Given the description of an element on the screen output the (x, y) to click on. 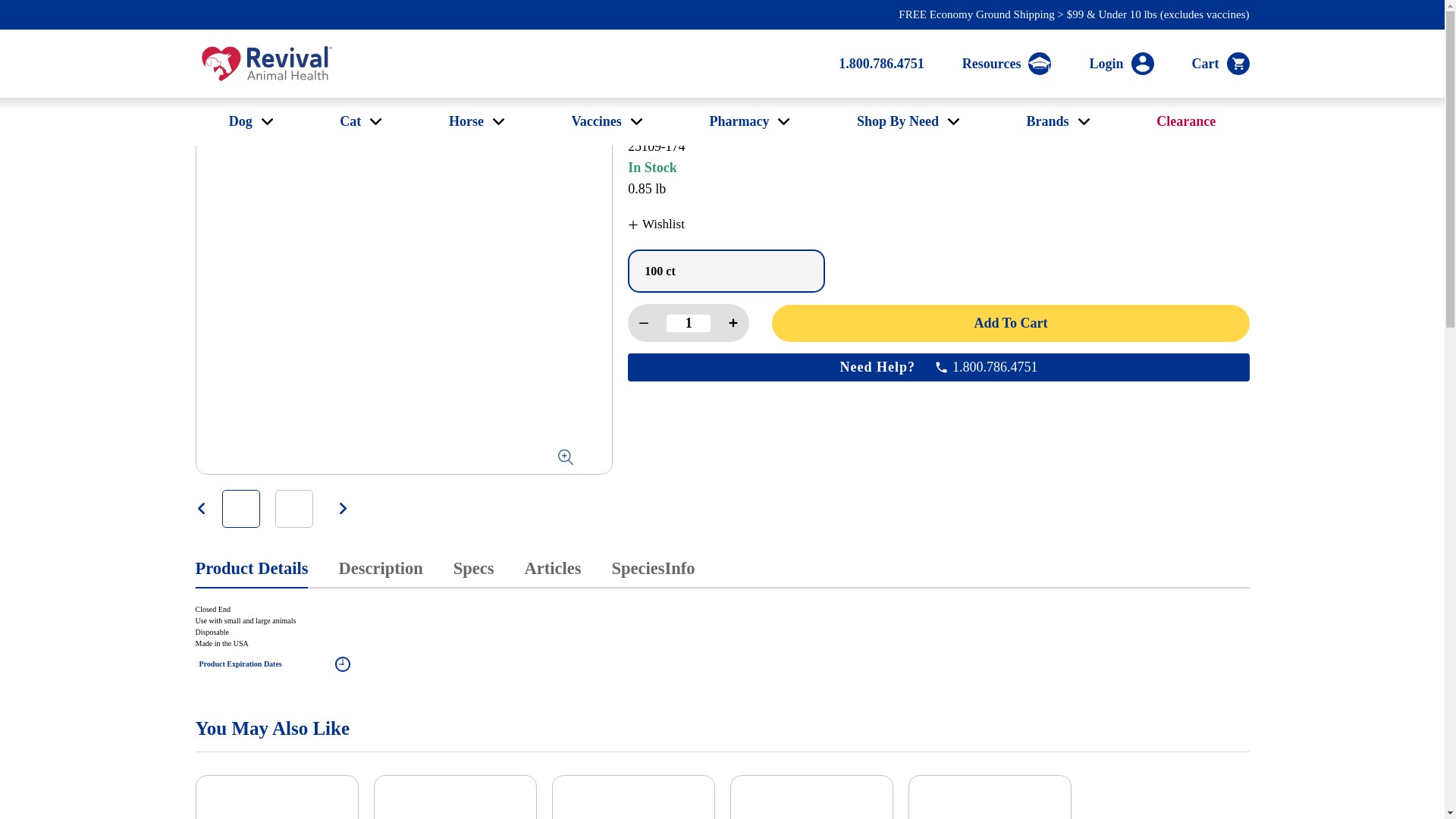
Dog (239, 120)
1.800.786.4751 (881, 63)
Login (1121, 63)
1 (688, 322)
Arrow icon (262, 121)
Resources (1006, 63)
